Given the description of an element on the screen output the (x, y) to click on. 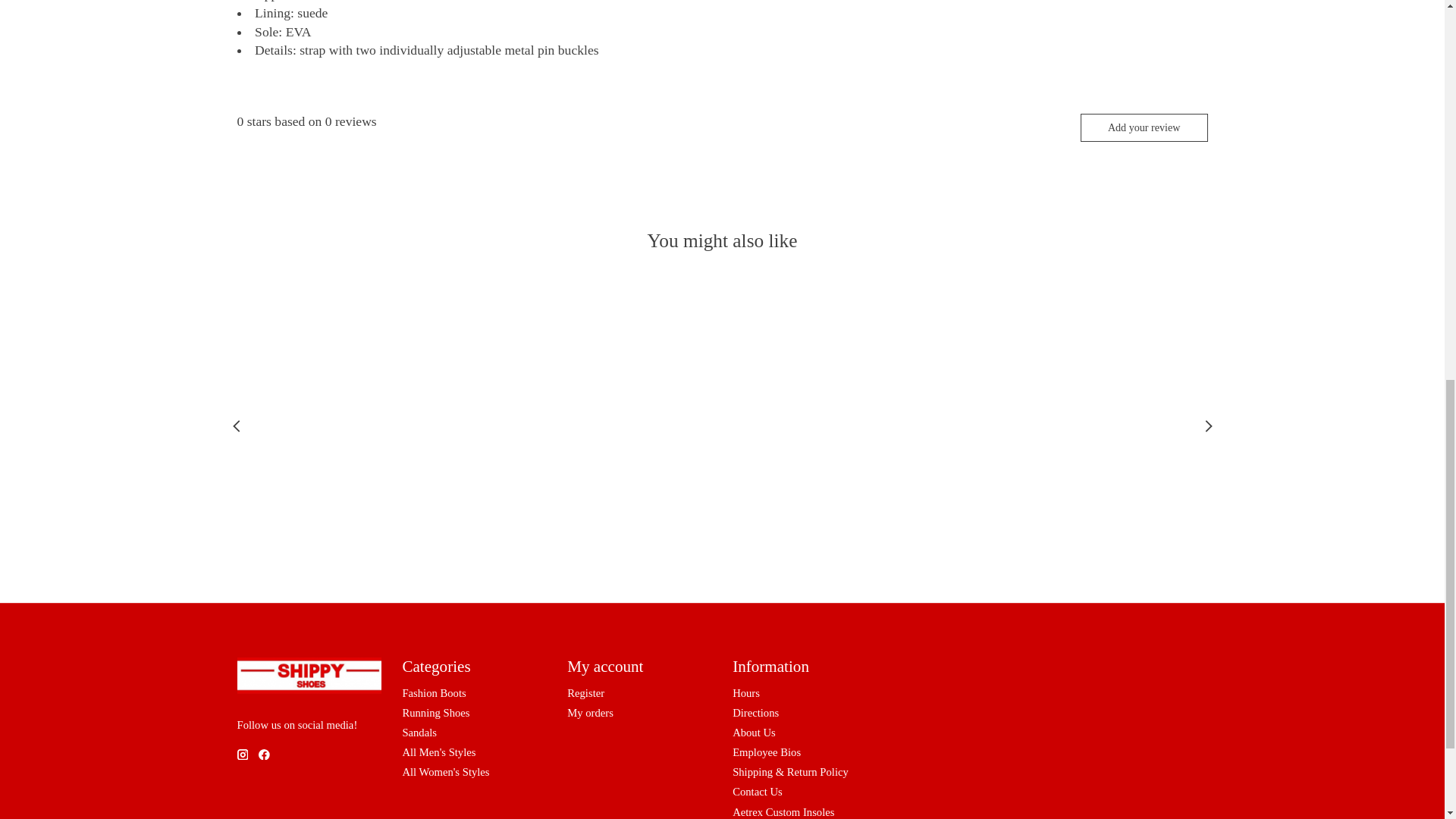
About Us (754, 732)
Register (585, 693)
Hours (746, 693)
My orders (589, 712)
Directions (755, 712)
